Given the description of an element on the screen output the (x, y) to click on. 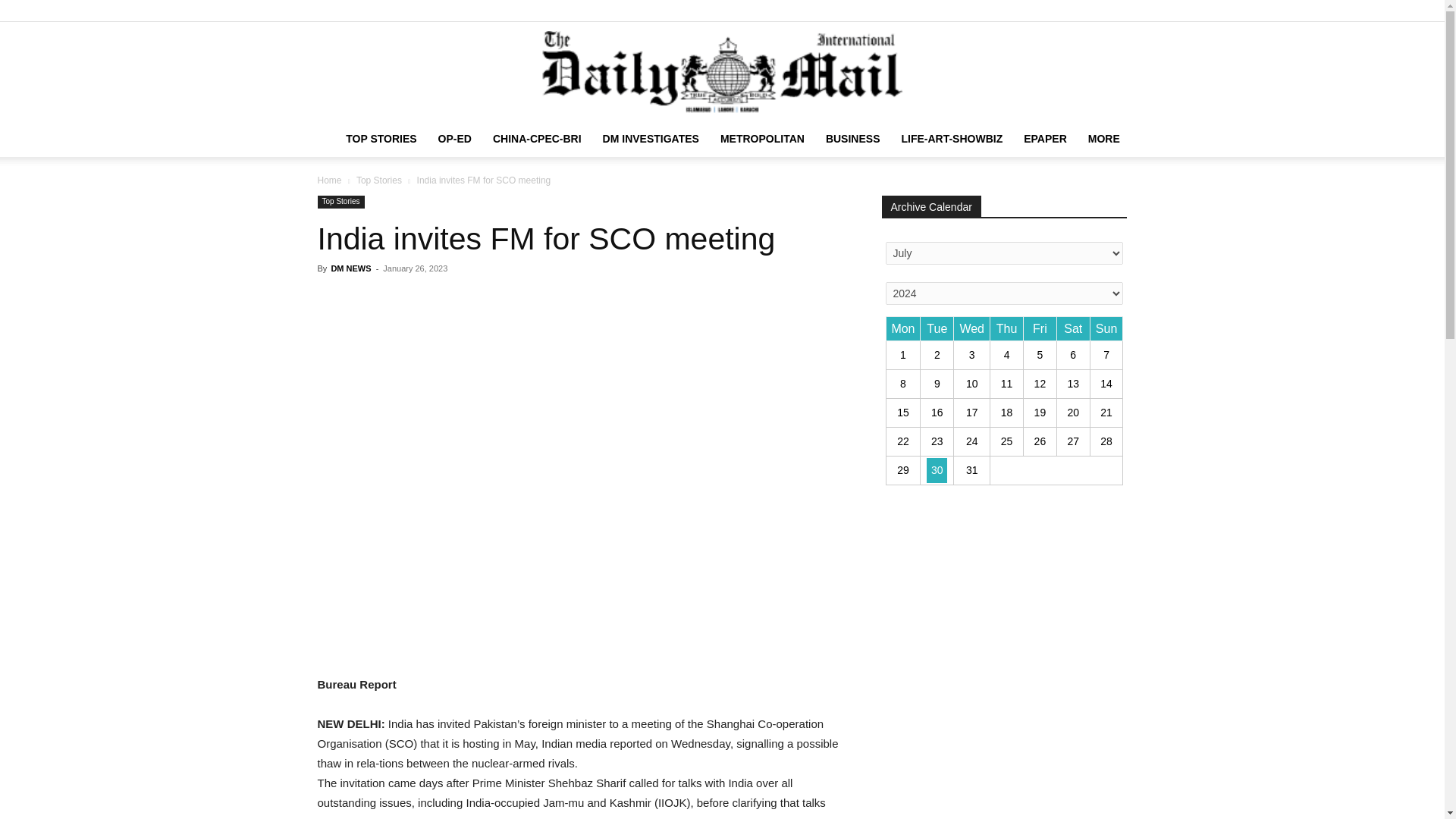
BUSINESS (853, 138)
Wednesday (971, 328)
Tuesday (936, 328)
MORE (1104, 138)
TOP STORIES (380, 138)
EPAPER (1045, 138)
Thursday (1006, 328)
Monday (902, 328)
LIFE-ART-SHOWBIZ (951, 138)
METROPOLITAN (762, 138)
CHINA-CPEC-BRI (536, 138)
OP-ED (454, 138)
View all posts in Top Stories (378, 180)
DM INVESTIGATES (651, 138)
